Given the description of an element on the screen output the (x, y) to click on. 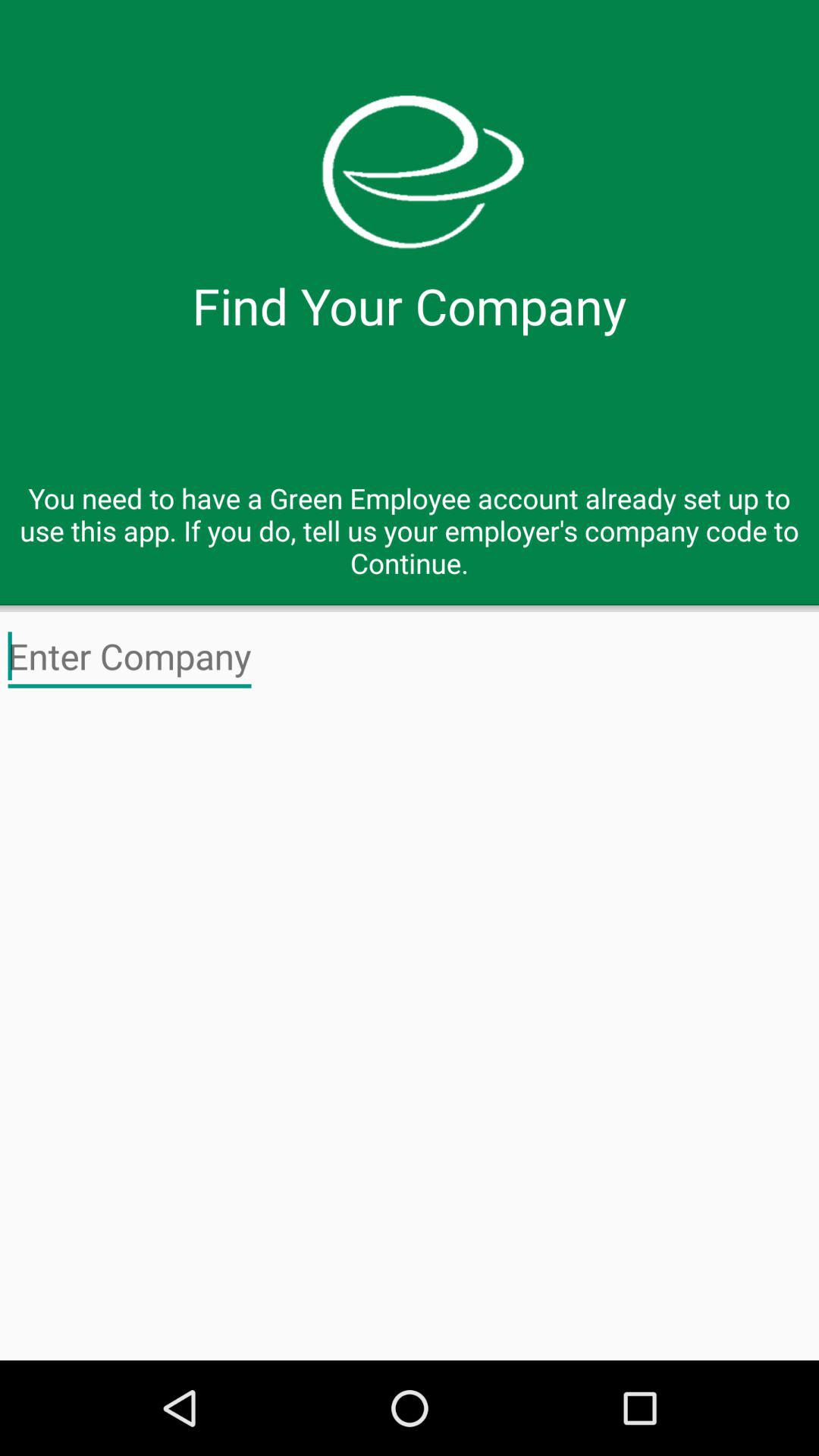
choose the icon at the bottom (409, 1030)
